Given the description of an element on the screen output the (x, y) to click on. 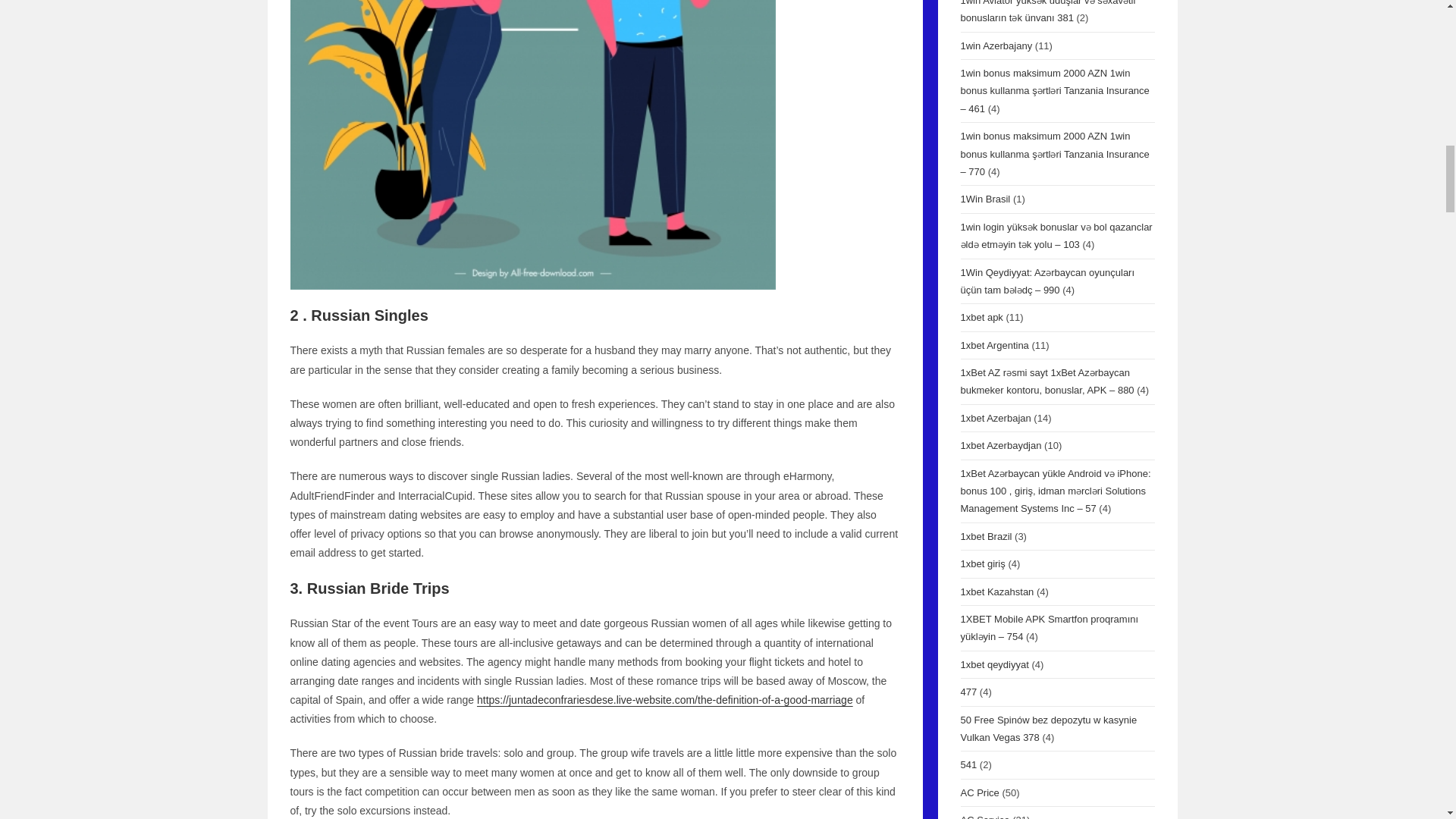
1xbet Azerbaydjan (1000, 445)
1xbet Argentina (993, 345)
1Win Brasil (984, 198)
1win Azerbajany (995, 45)
1xbet Azerbajan (994, 418)
1xbet apk (981, 317)
